Given the description of an element on the screen output the (x, y) to click on. 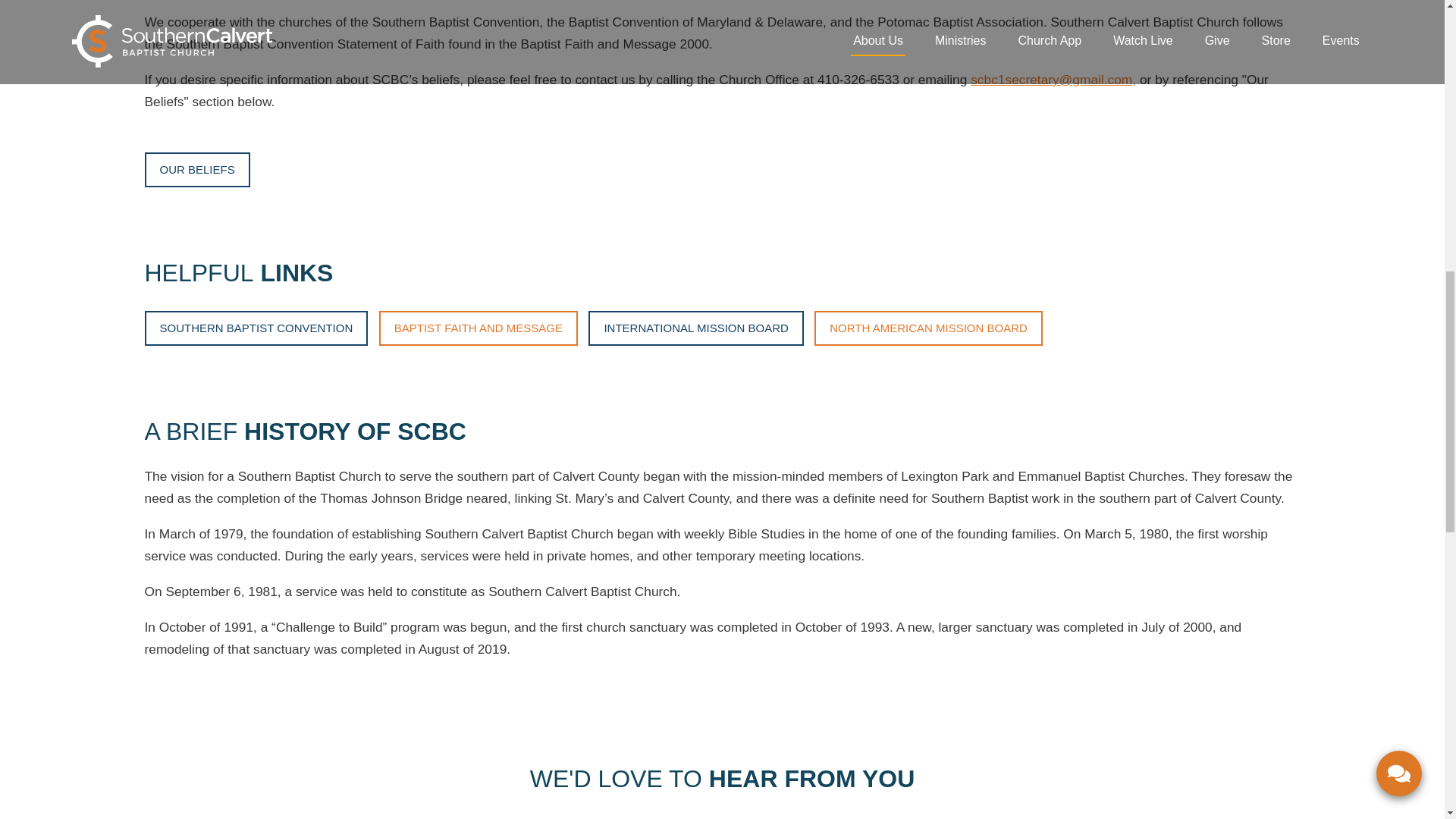
INTERNATIONAL MISSION BOARD (695, 328)
SOUTHERN BAPTIST CONVENTION (256, 328)
BAPTIST FAITH AND MESSAGE (478, 328)
NORTH AMERICAN MISSION BOARD (927, 328)
OUR BELIEFS (196, 169)
